Given the description of an element on the screen output the (x, y) to click on. 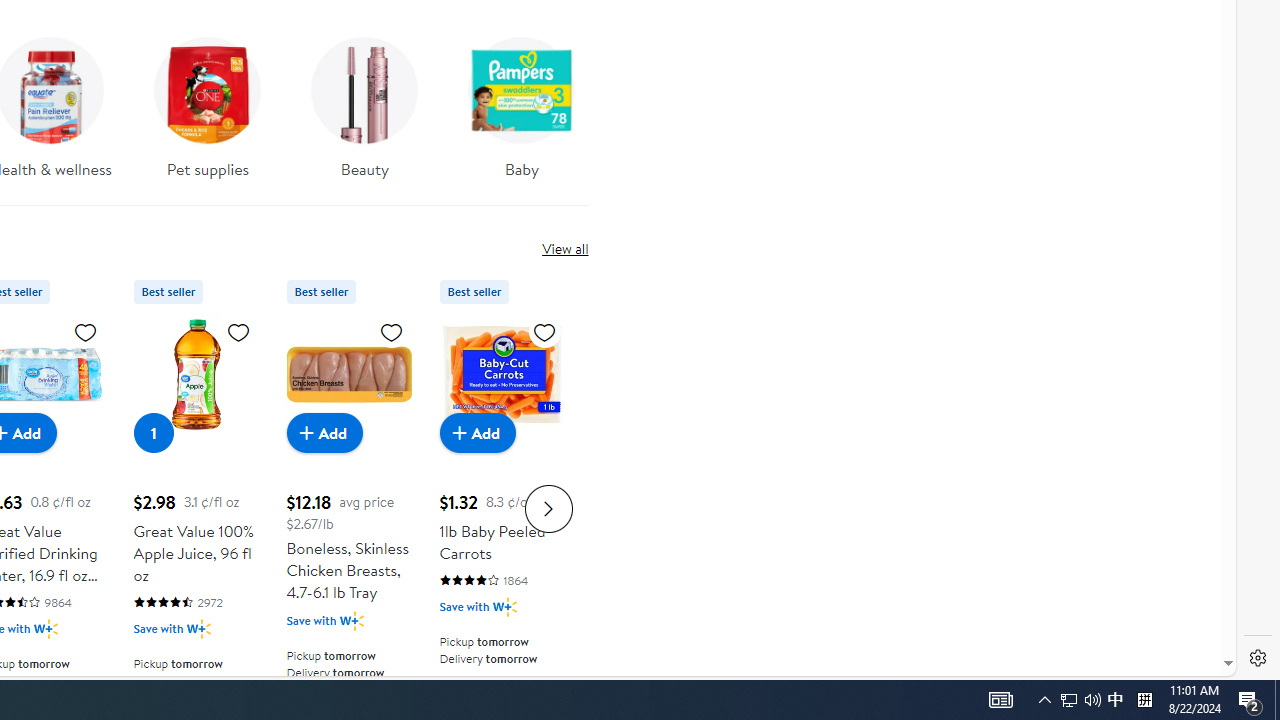
Add to cart - 1lb Baby Peeled Carrots (478, 431)
1lb Baby Peeled Carrots (501, 374)
Sign in to add to Favorites list, 1lb Baby Peeled Carrots (543, 331)
Great Value 100% Apple Juice, 96 fl oz (195, 374)
